Given the description of an element on the screen output the (x, y) to click on. 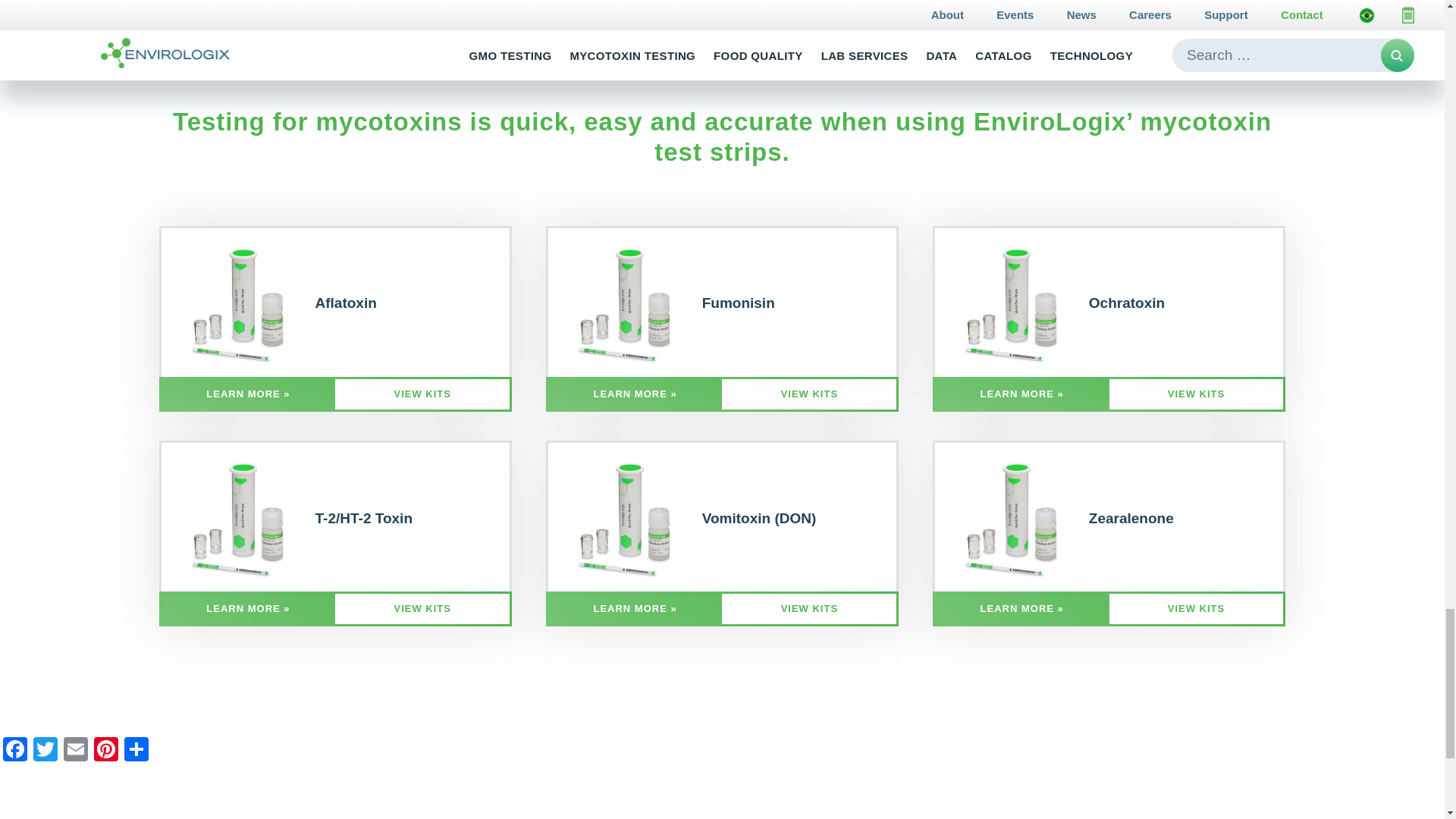
Pinterest (105, 750)
Twitter (45, 750)
Email (75, 750)
Facebook (15, 750)
